Given the description of an element on the screen output the (x, y) to click on. 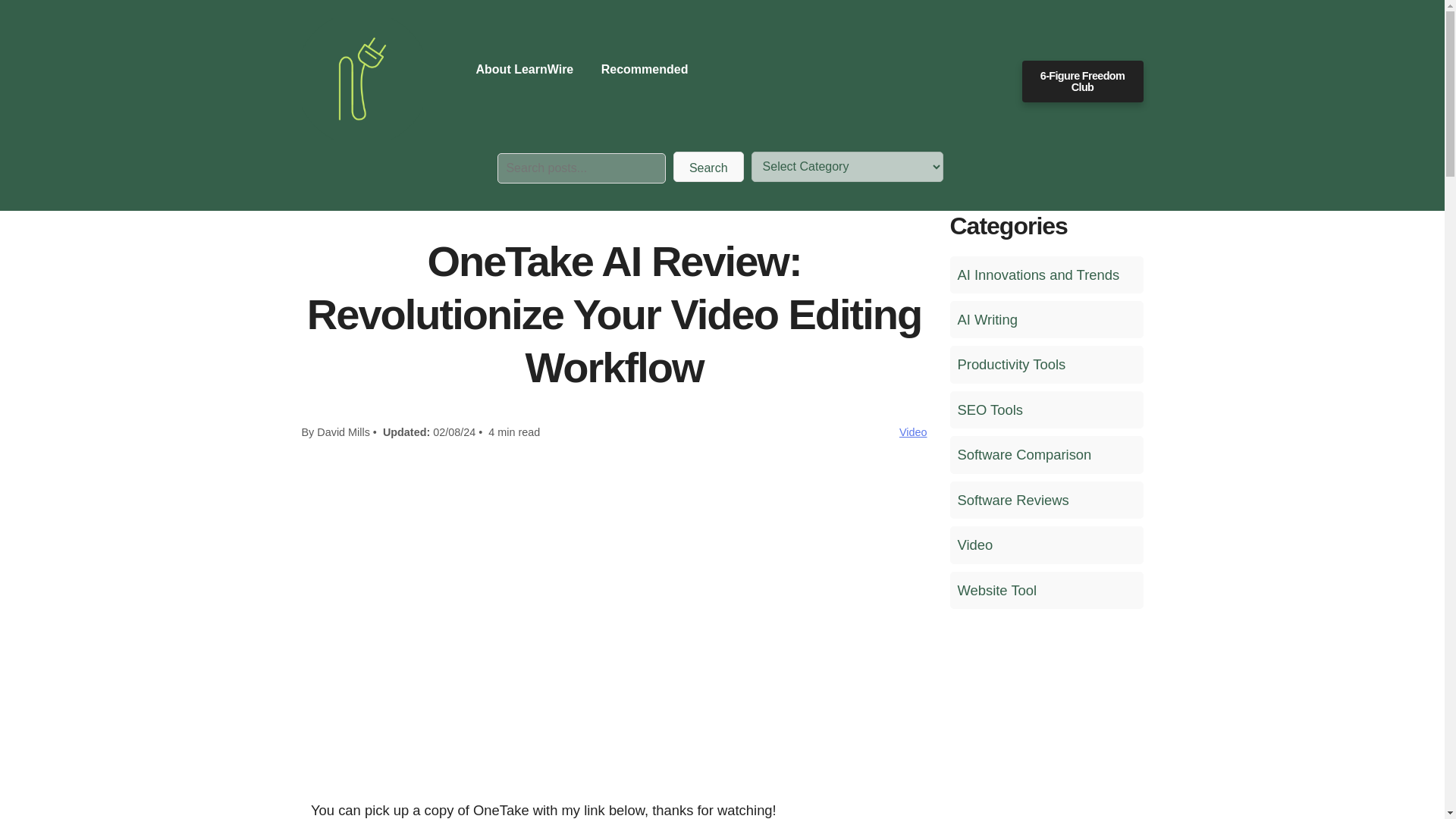
AI Writing (1045, 319)
SEO Tools (1045, 409)
6-Figure Freedom Club (1082, 81)
Search (708, 166)
Video (1045, 544)
Search (708, 166)
Recommended (644, 69)
Software Comparison (1045, 454)
Website Tool (1045, 590)
